Given the description of an element on the screen output the (x, y) to click on. 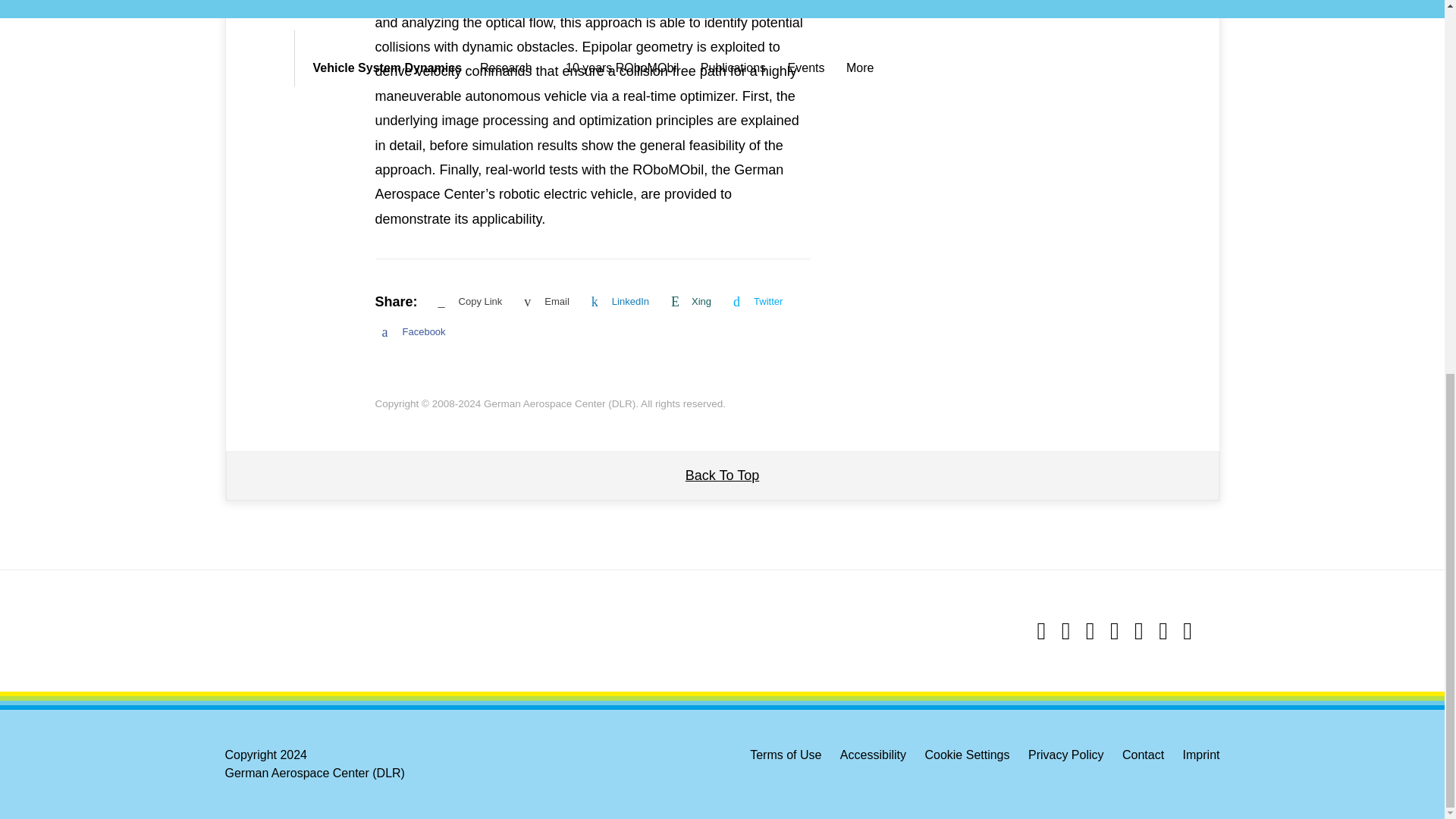
Share on Copy Link (471, 301)
Share via email (548, 301)
Back To Top (721, 475)
Email (548, 301)
Share on Facebook (415, 331)
LinkedIn (623, 301)
Share on Xing (692, 301)
Copy Link (471, 301)
Facebook (415, 331)
Accessibility (872, 754)
